Given the description of an element on the screen output the (x, y) to click on. 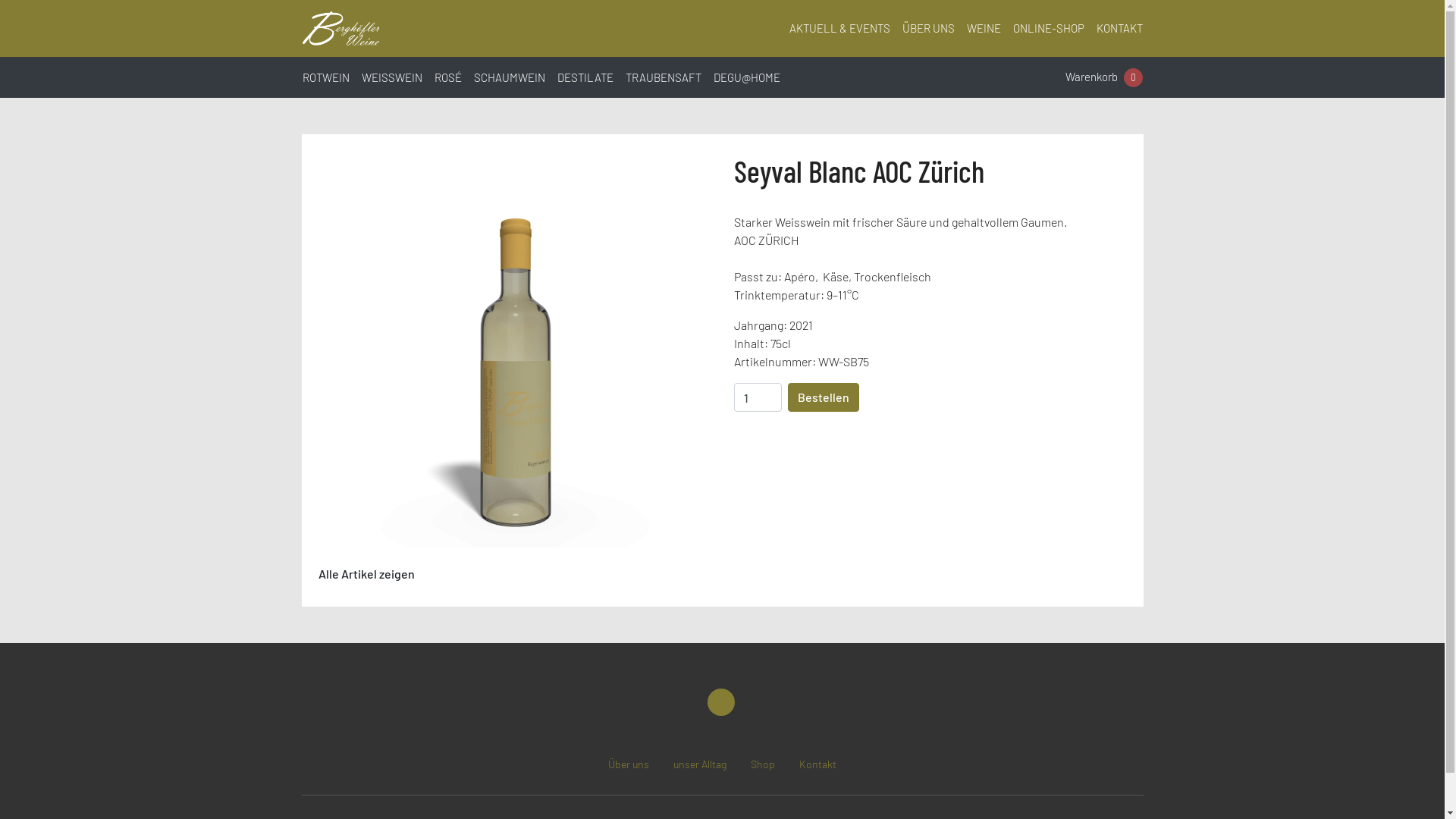
Kontakt Element type: text (817, 763)
DESTILATE Element type: text (590, 77)
DEGU@HOME Element type: text (751, 77)
WEINE Element type: text (976, 28)
unser Alltag Element type: text (699, 763)
ONLINE-SHOP Element type: text (1042, 28)
TRAUBENSAFT Element type: text (668, 77)
ROTWEIN Element type: text (330, 77)
 Warenkorb 0 Element type: text (1102, 76)
KONTAKT Element type: text (1113, 28)
WEISSWEIN Element type: text (396, 77)
Shop Element type: text (762, 763)
SCHAUMWEIN Element type: text (514, 77)
AKTUELL & EVENTS Element type: text (832, 28)
Bestellen Element type: text (822, 396)
Alle Artikel zeigen Element type: text (365, 573)
